Given the description of an element on the screen output the (x, y) to click on. 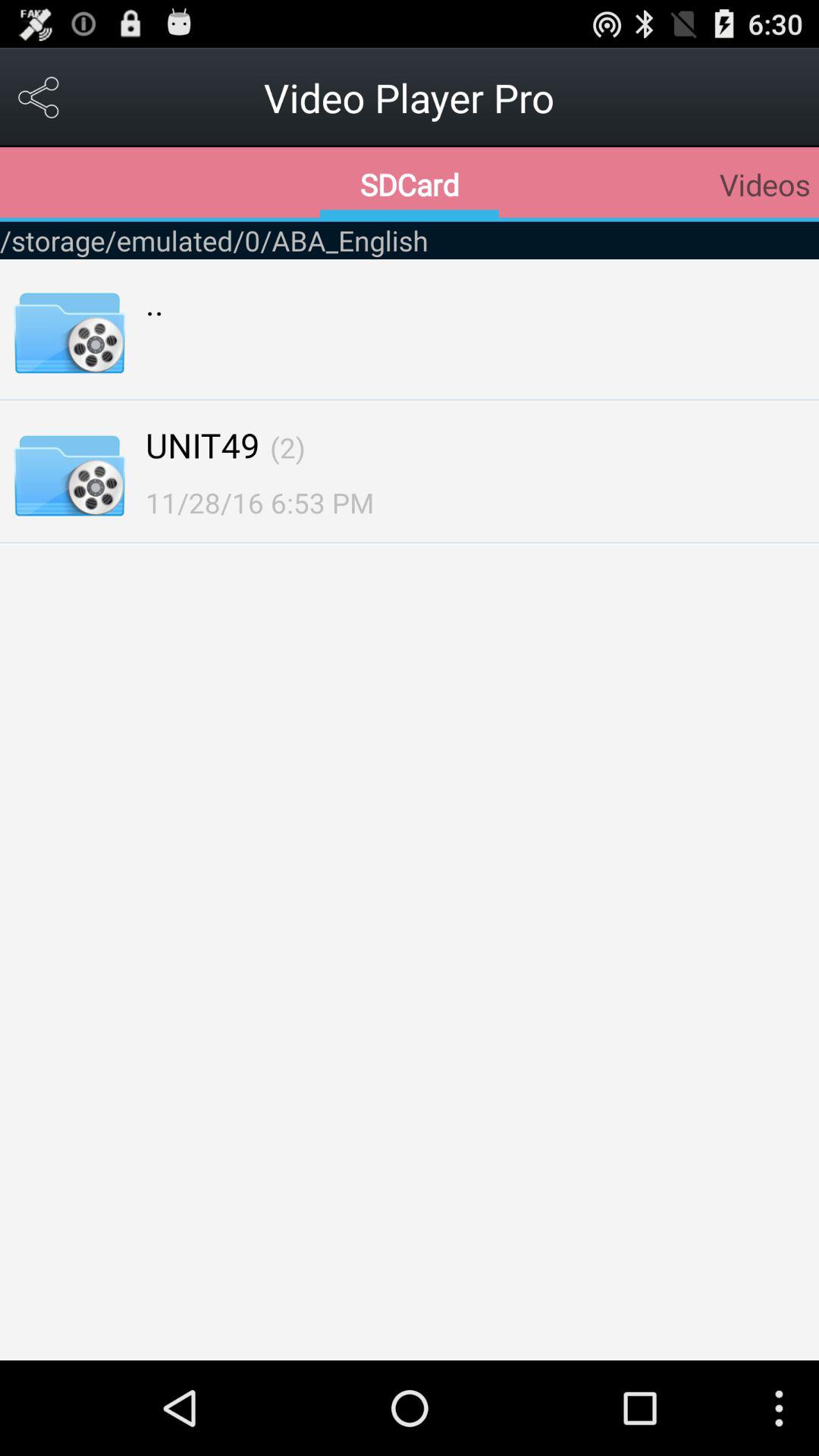
choose the app below the storage emulated 0 (287, 447)
